Given the description of an element on the screen output the (x, y) to click on. 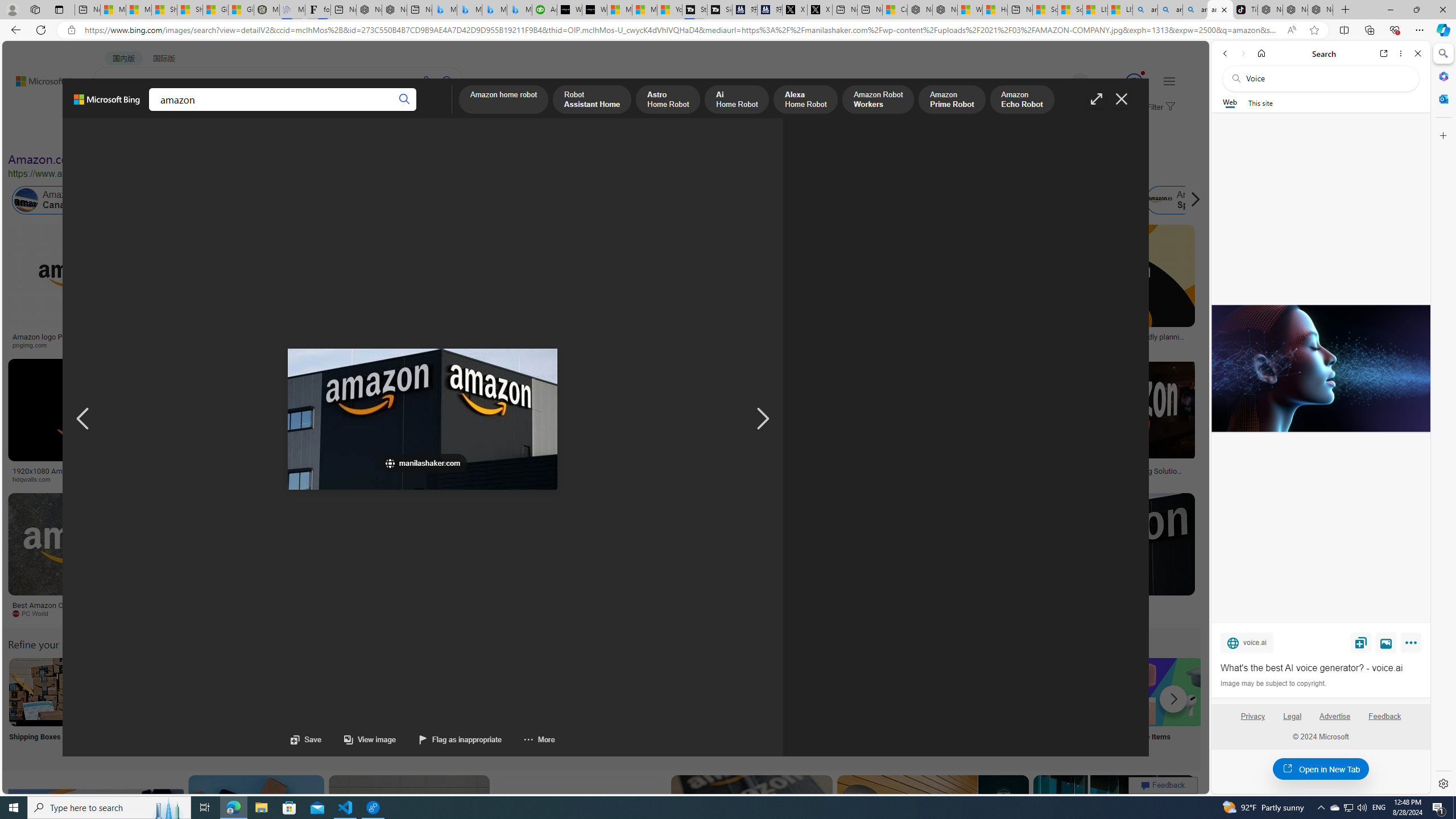
Alexa Smart Home Devices (673, 332)
Amazon Sale Items Sale Items (1169, 706)
mobilemarketingmagazine.com (1054, 479)
Alexa Smart Home Devices (673, 332)
Legal (1292, 720)
Class: item col (1183, 199)
Amazon Prime Membership (753, 200)
Amazon Shipping Boxes Shipping Boxes (42, 706)
